Given the description of an element on the screen output the (x, y) to click on. 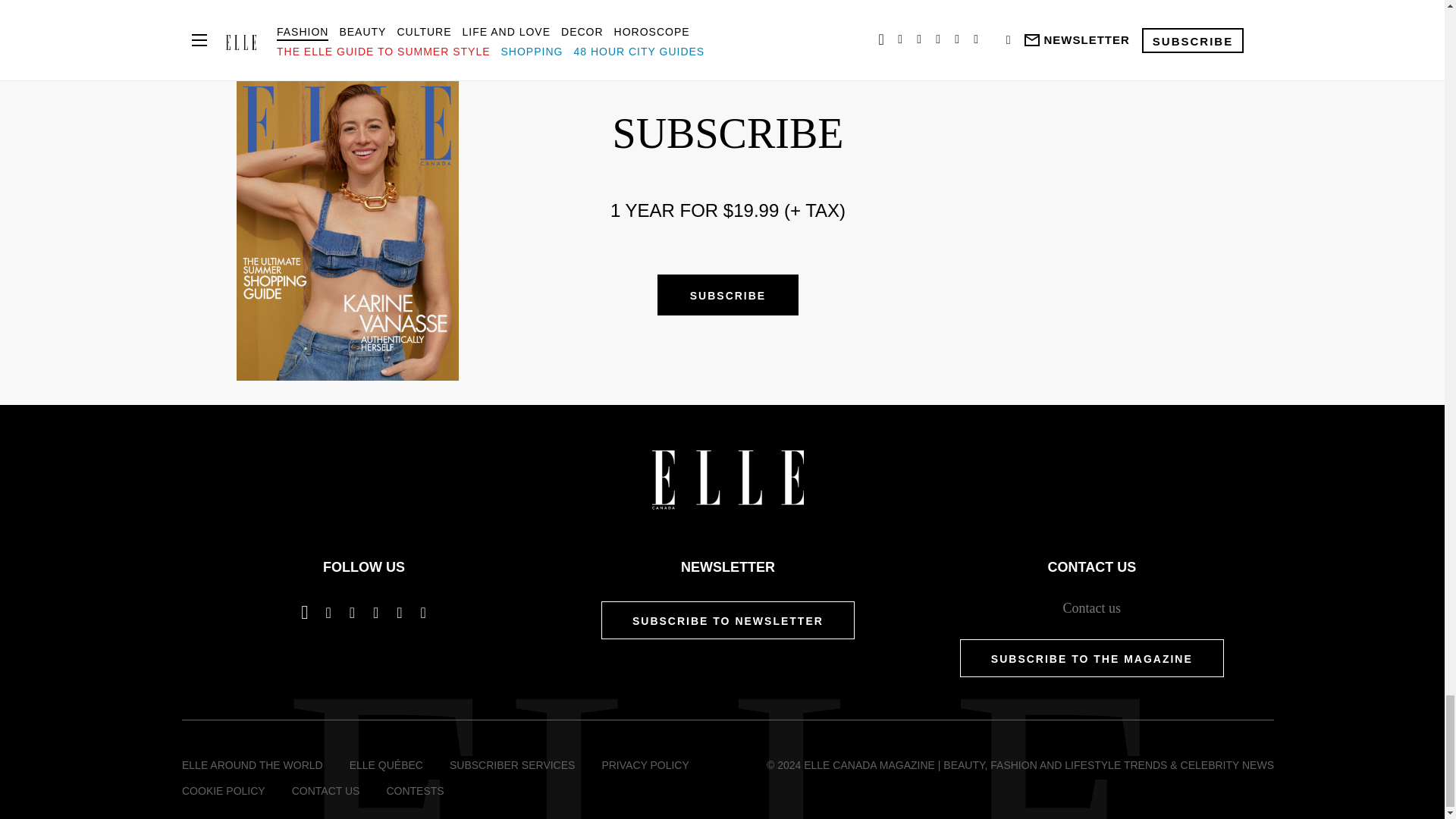
SUBSCRIBE (727, 294)
